Given the description of an element on the screen output the (x, y) to click on. 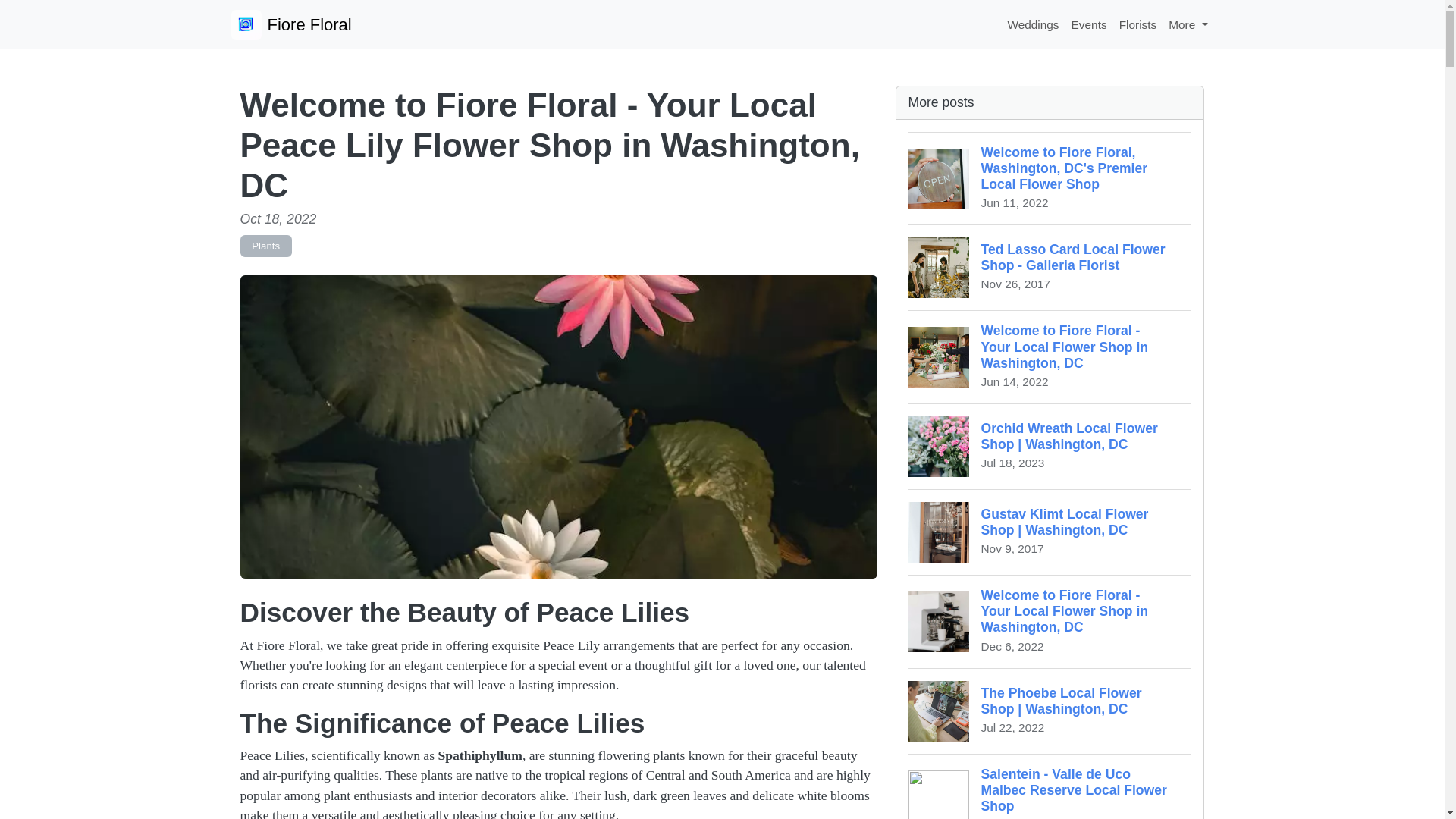
Plants (265, 246)
Events (1089, 24)
Fiore Floral (290, 24)
Weddings (1032, 24)
More (1186, 24)
Florists (1138, 24)
